Given the description of an element on the screen output the (x, y) to click on. 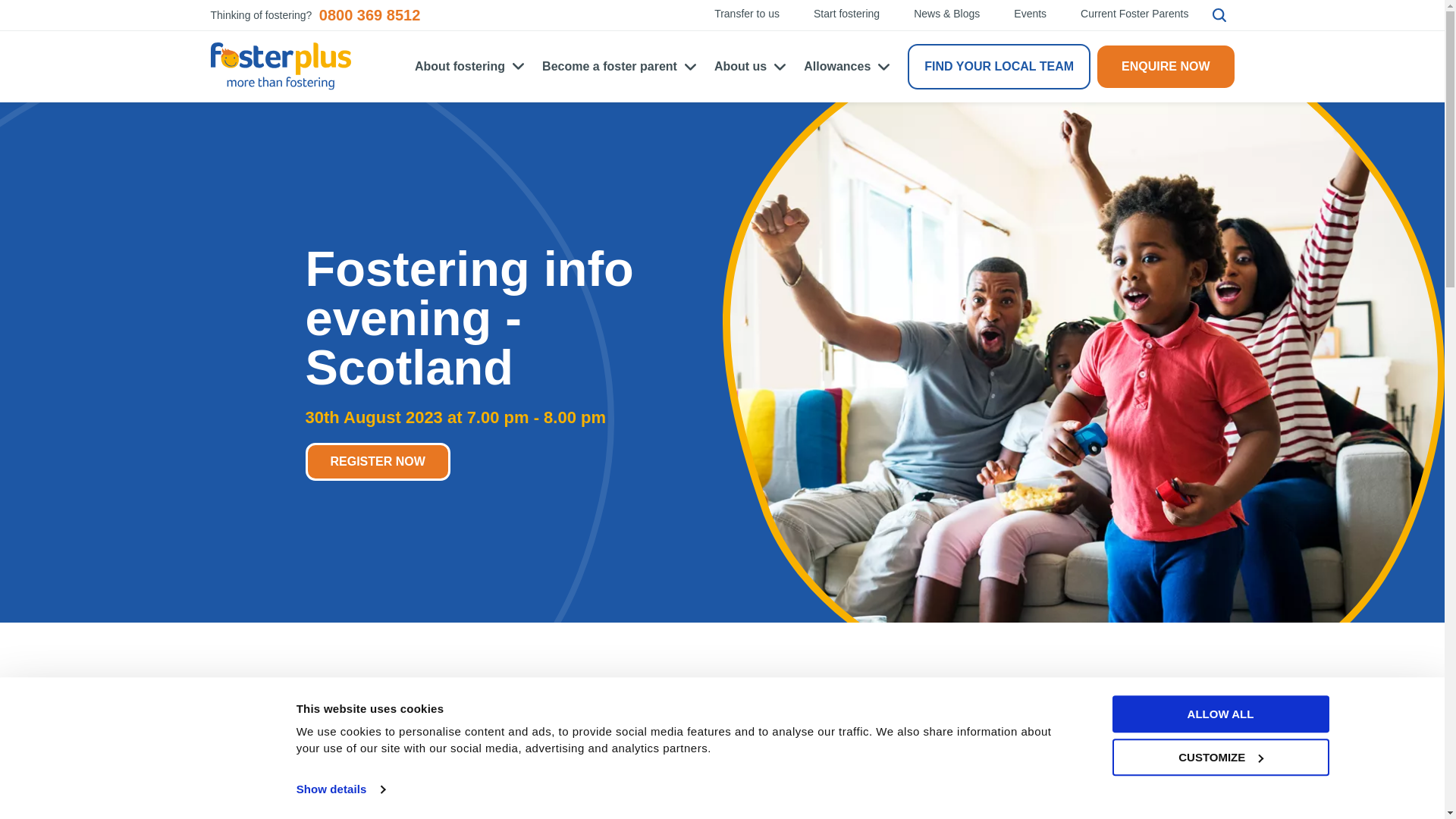
Transfer to us (746, 13)
Start fostering (846, 13)
Call 0800 369 8512 (369, 15)
Show details (340, 789)
